Given the description of an element on the screen output the (x, y) to click on. 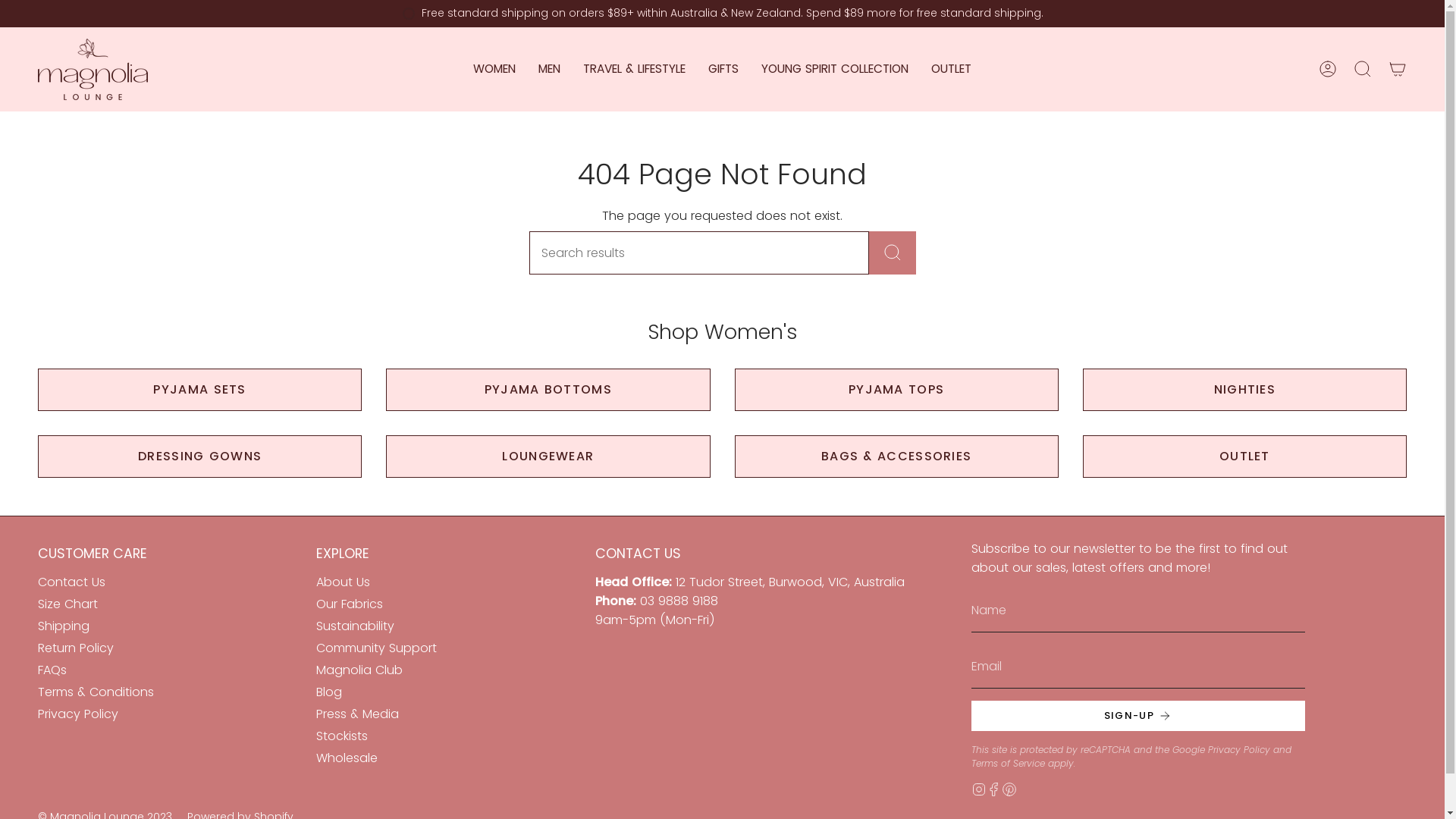
Return Policy Element type: text (75, 647)
OUTLET Element type: text (950, 69)
Community Support Element type: text (376, 647)
WOMEN Element type: text (494, 69)
GIFTS Element type: text (722, 69)
YOUNG SPIRIT COLLECTION Element type: text (834, 69)
About Us Element type: text (343, 581)
Facebook Element type: text (993, 788)
Contact Us Element type: text (71, 581)
MEN Element type: text (549, 69)
Privacy Policy Element type: text (77, 713)
Blog Element type: text (329, 691)
DRESSING GOWNS Element type: text (199, 456)
PYJAMA TOPS Element type: text (895, 389)
Instagram Element type: text (978, 788)
LOUNGEWEAR Element type: text (547, 456)
FAQs Element type: text (51, 669)
PYJAMA BOTTOMS Element type: text (547, 389)
TRAVEL & LIFESTYLE Element type: text (633, 69)
Size Chart Element type: text (67, 603)
Terms of Service Element type: text (1007, 762)
Wholesale Element type: text (346, 757)
CART Element type: text (1397, 68)
Magnolia Club Element type: text (359, 669)
Stockists Element type: text (341, 735)
Sustainability Element type: text (355, 625)
Shipping Element type: text (63, 625)
Privacy Policy Element type: text (1239, 749)
NIGHTIES Element type: text (1244, 389)
Our Fabrics Element type: text (349, 603)
PYJAMA SETS Element type: text (199, 389)
BAGS & ACCESSORIES Element type: text (895, 456)
Pinterest Element type: text (1008, 788)
ACCOUNT Element type: text (1327, 68)
Press & Media Element type: text (357, 713)
SIGN-UP Element type: text (1138, 715)
Terms & Conditions Element type: text (95, 691)
OUTLET Element type: text (1244, 456)
